Given the description of an element on the screen output the (x, y) to click on. 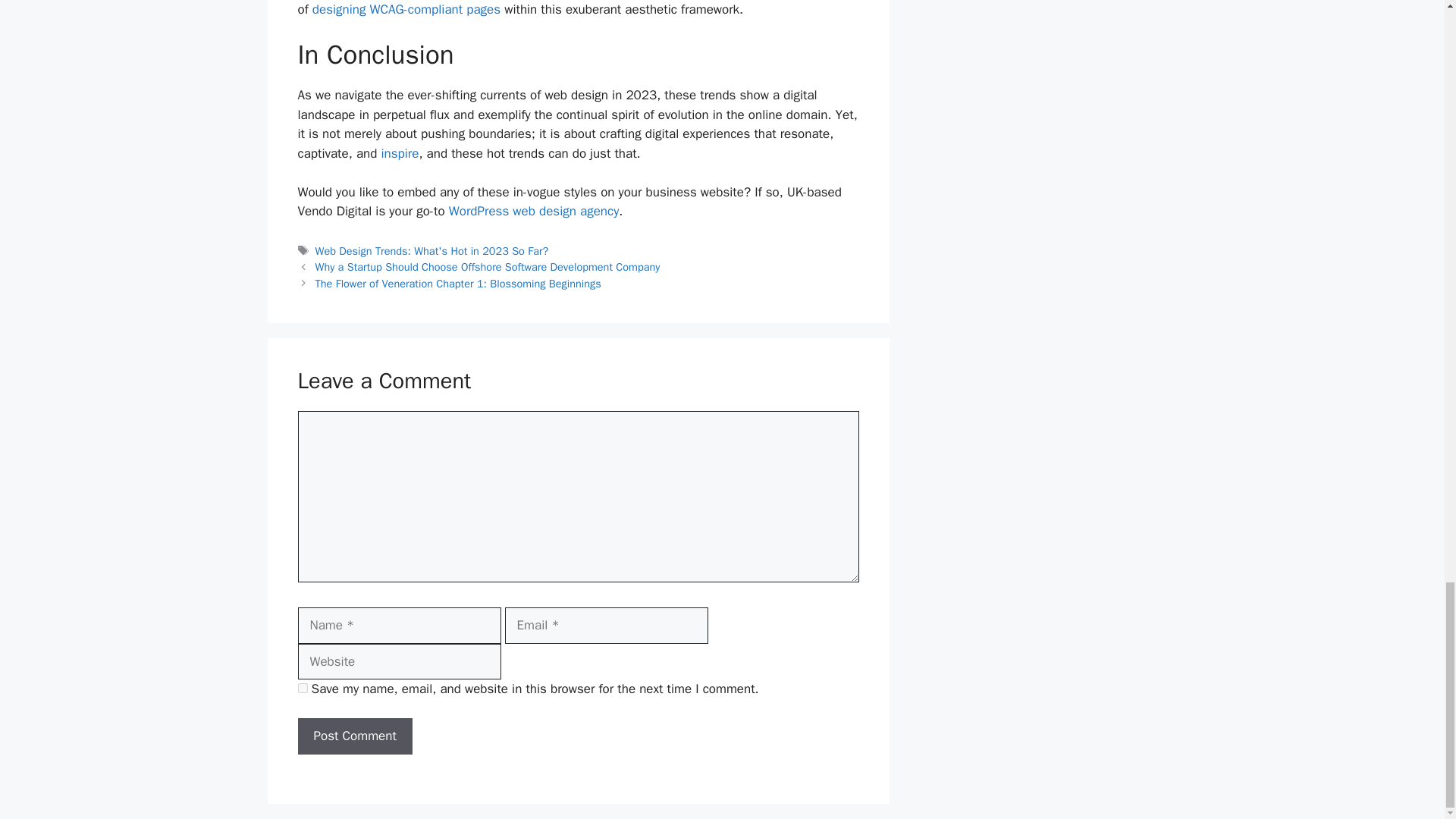
Web Design Trends: What's Hot in 2023 So Far? (431, 250)
Post Comment (354, 736)
WordPress web design agency (533, 211)
Post Comment (354, 736)
yes (302, 687)
The Flower of Veneration Chapter 1: Blossoming Beginnings (458, 283)
inspire (399, 153)
designing WCAG-compliant pages (406, 9)
